Given the description of an element on the screen output the (x, y) to click on. 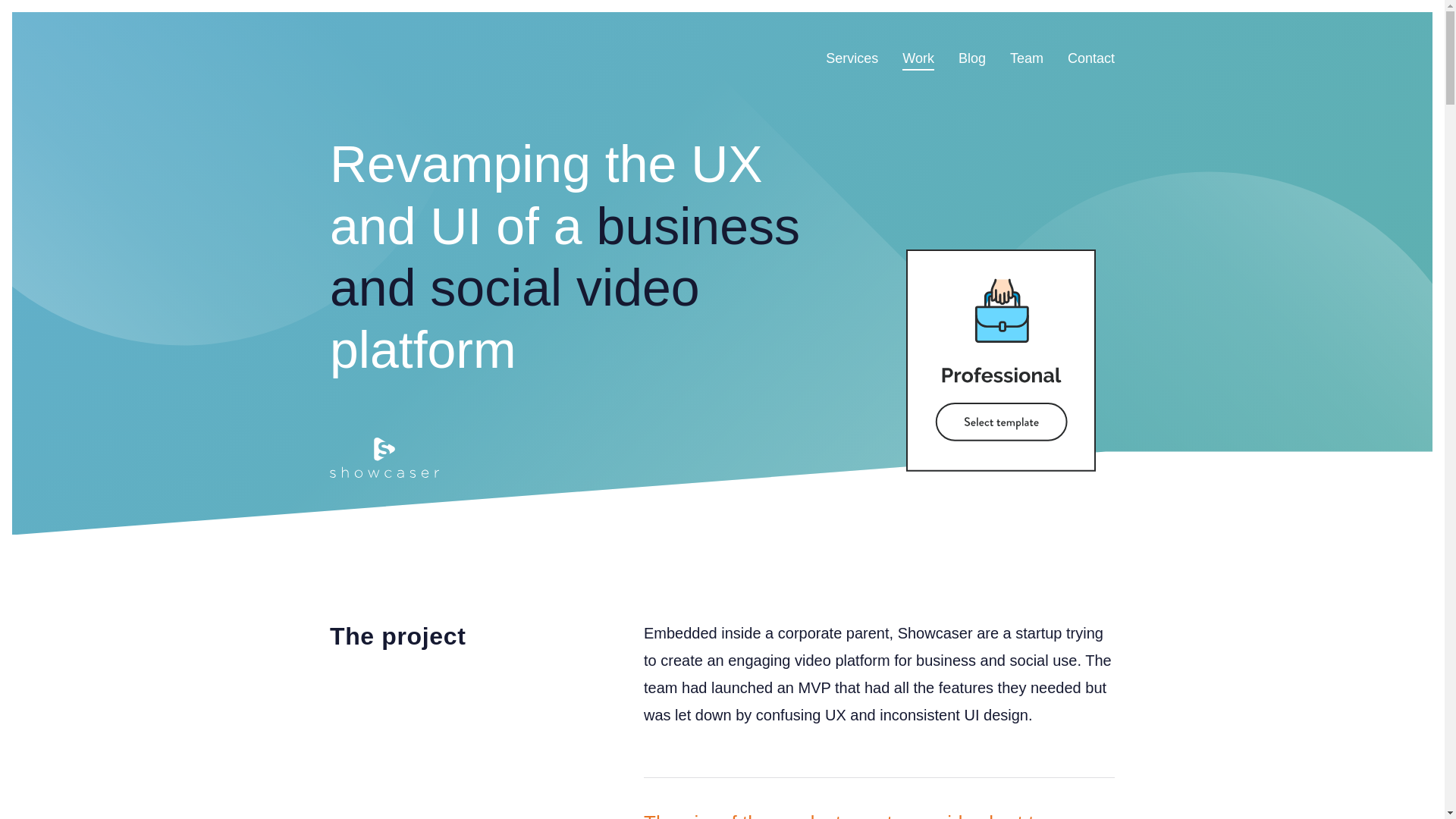
Contact (1091, 57)
Services (851, 57)
Work (918, 57)
Team (1026, 57)
Blog (971, 57)
